Given the description of an element on the screen output the (x, y) to click on. 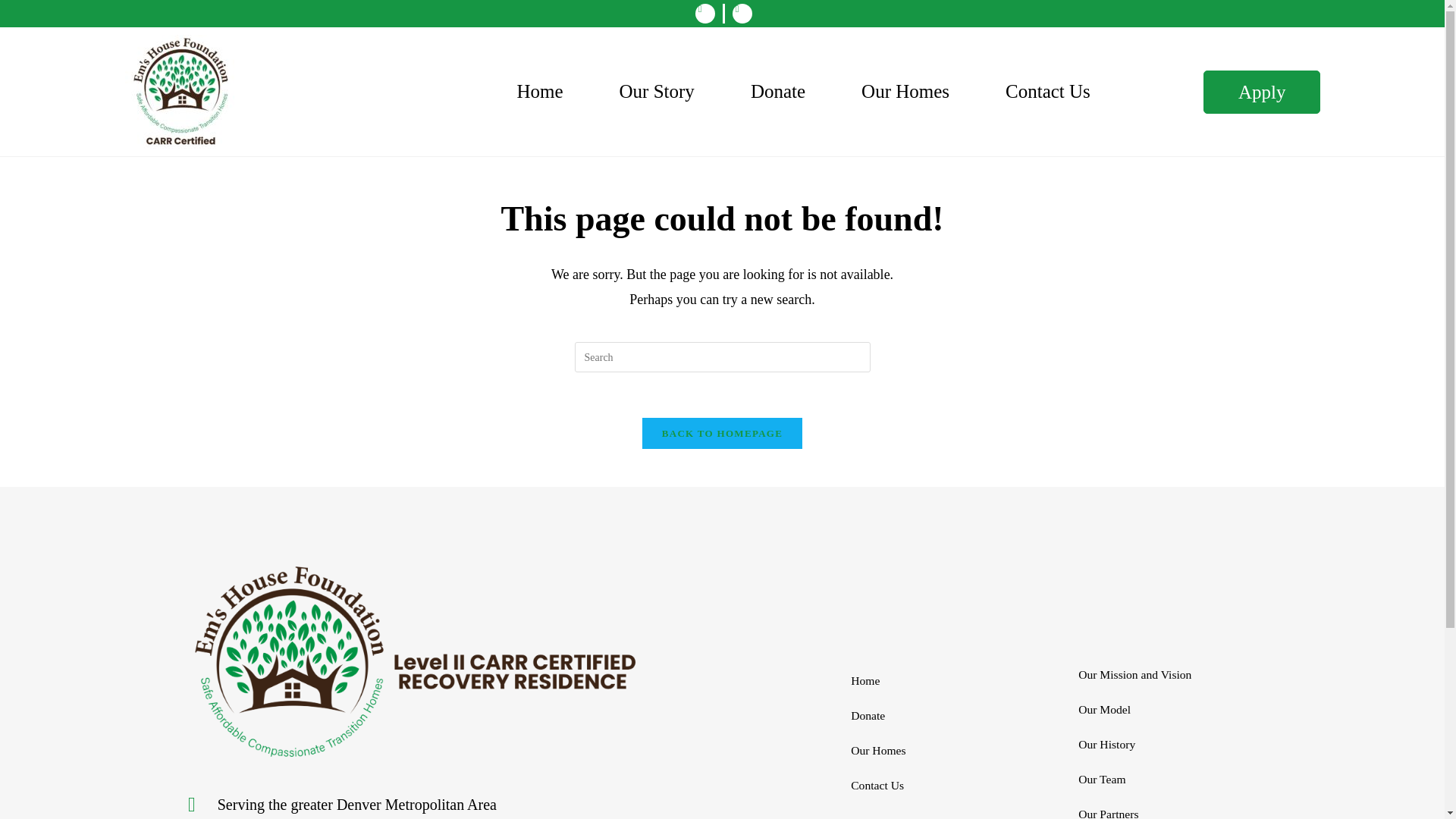
Our Homes (904, 91)
Home (539, 91)
Our Story (656, 91)
Contact Us (1047, 91)
Apply (1262, 91)
Donate (777, 91)
